Given the description of an element on the screen output the (x, y) to click on. 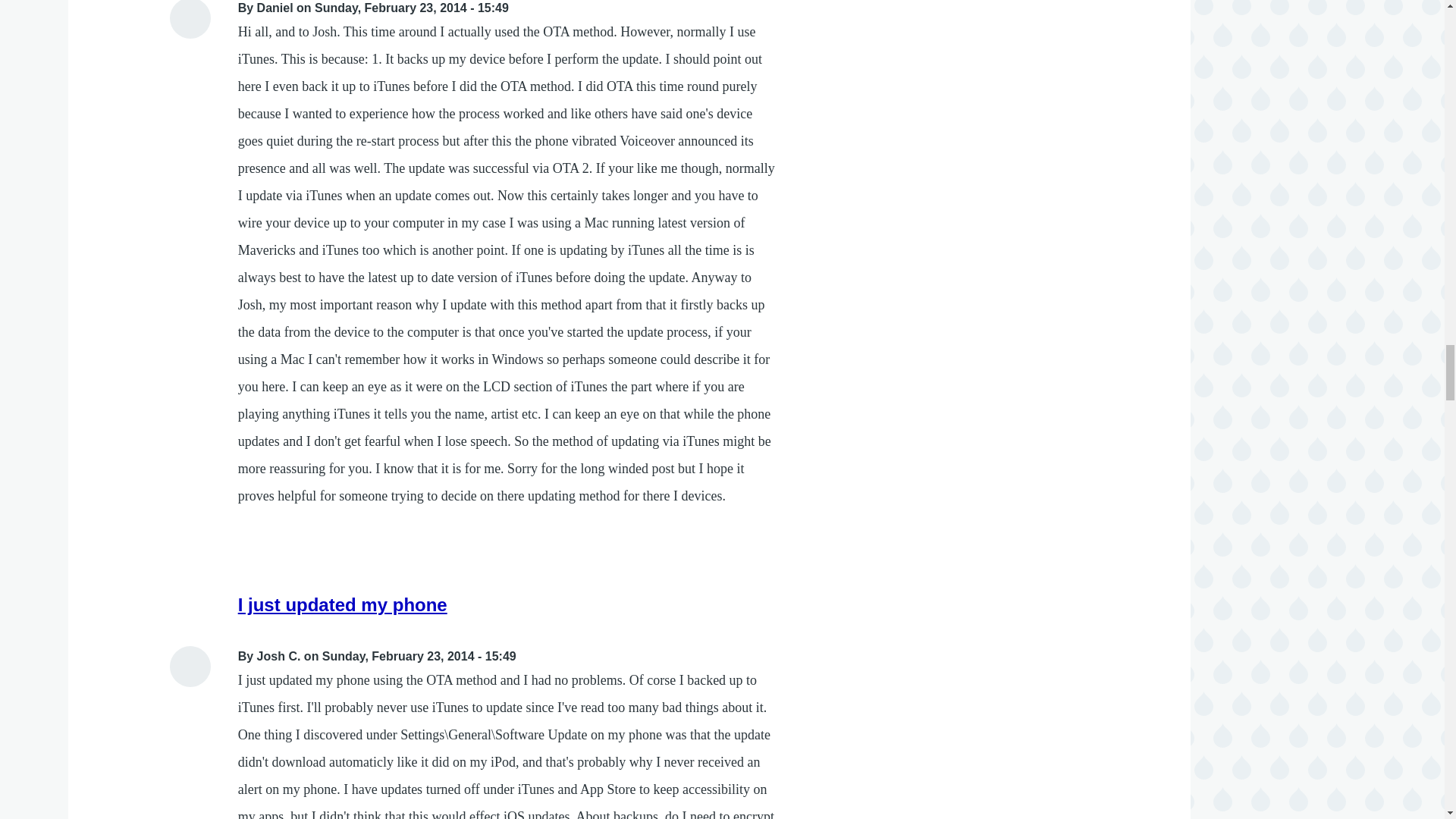
I just updated my phone (342, 604)
